Given the description of an element on the screen output the (x, y) to click on. 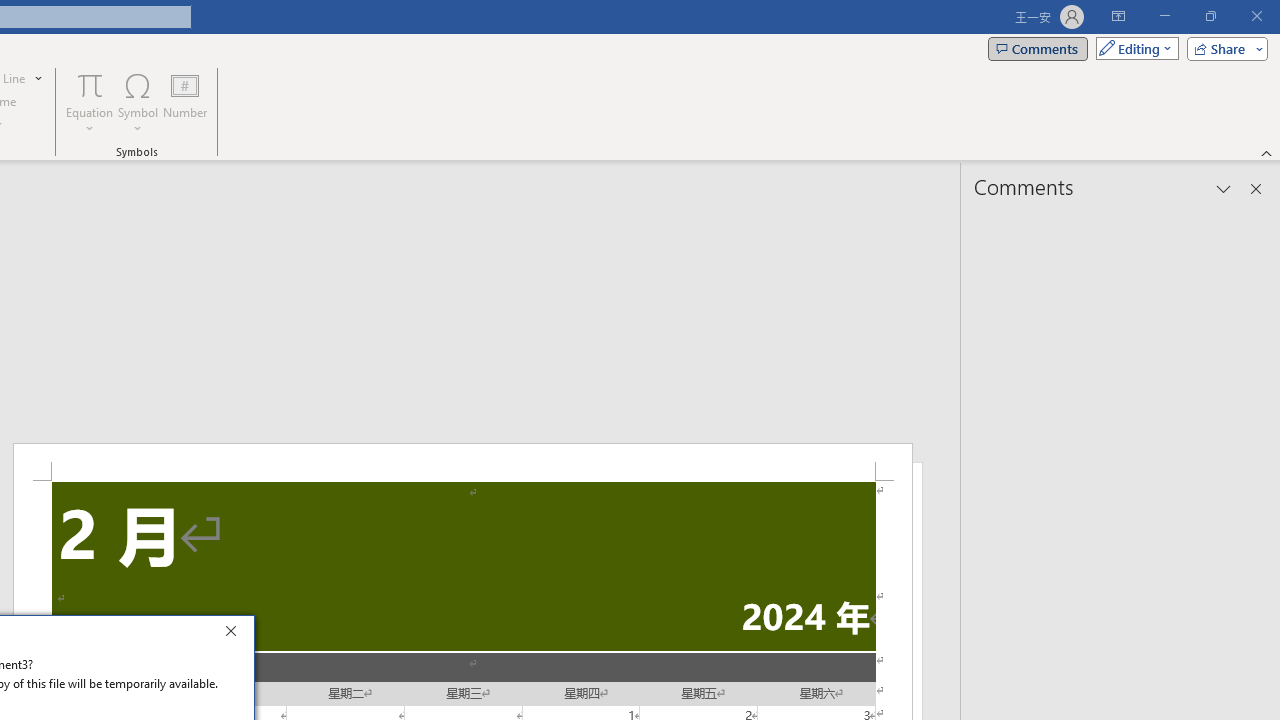
Share (1223, 48)
